Given the description of an element on the screen output the (x, y) to click on. 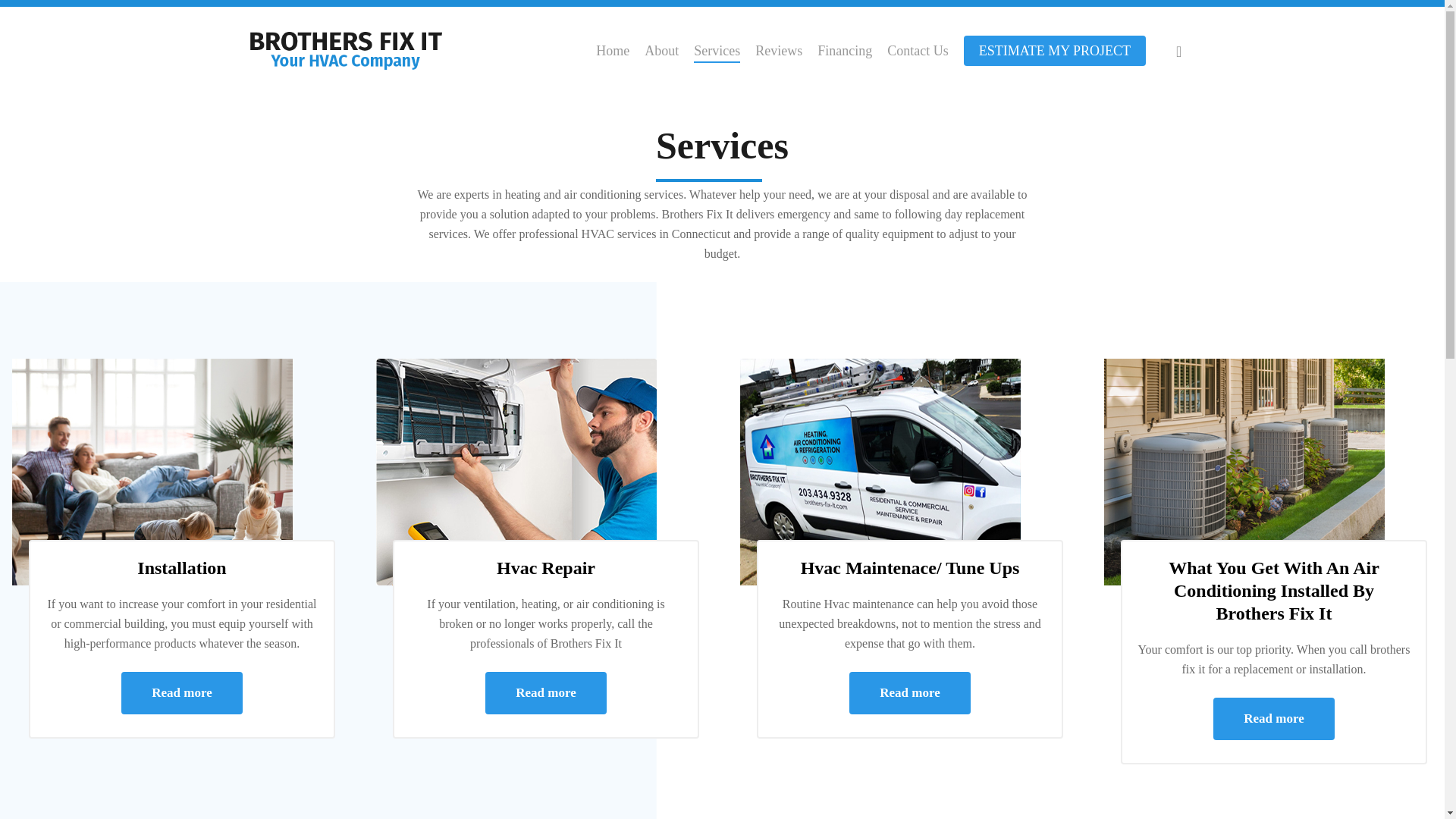
Read more (1272, 718)
Services (716, 50)
Home (611, 50)
Read more (908, 692)
Contact Us (917, 50)
About (661, 50)
ESTIMATE MY PROJECT (1054, 50)
Financing (844, 50)
Read more (180, 692)
Reviews (778, 50)
Read more (544, 692)
